Given the description of an element on the screen output the (x, y) to click on. 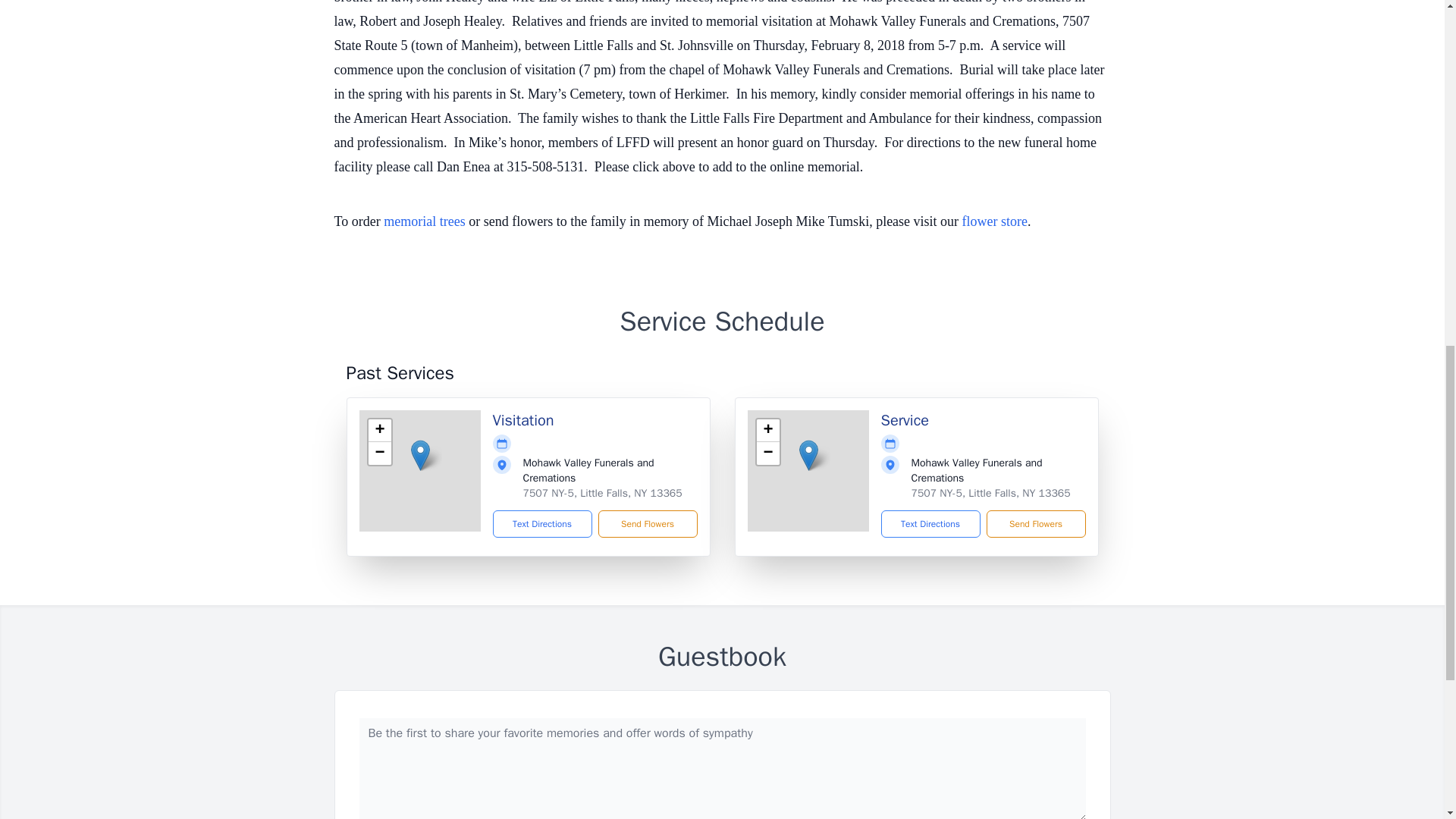
flower store (994, 221)
Send Flowers (1034, 523)
Send Flowers (646, 523)
Text Directions (542, 523)
Zoom in (379, 430)
memorial trees (424, 221)
Text Directions (929, 523)
7507 NY-5, Little Falls, NY 13365 (990, 492)
7507 NY-5, Little Falls, NY 13365 (602, 492)
Zoom in (767, 430)
Zoom out (379, 453)
Zoom out (767, 453)
